Given the description of an element on the screen output the (x, y) to click on. 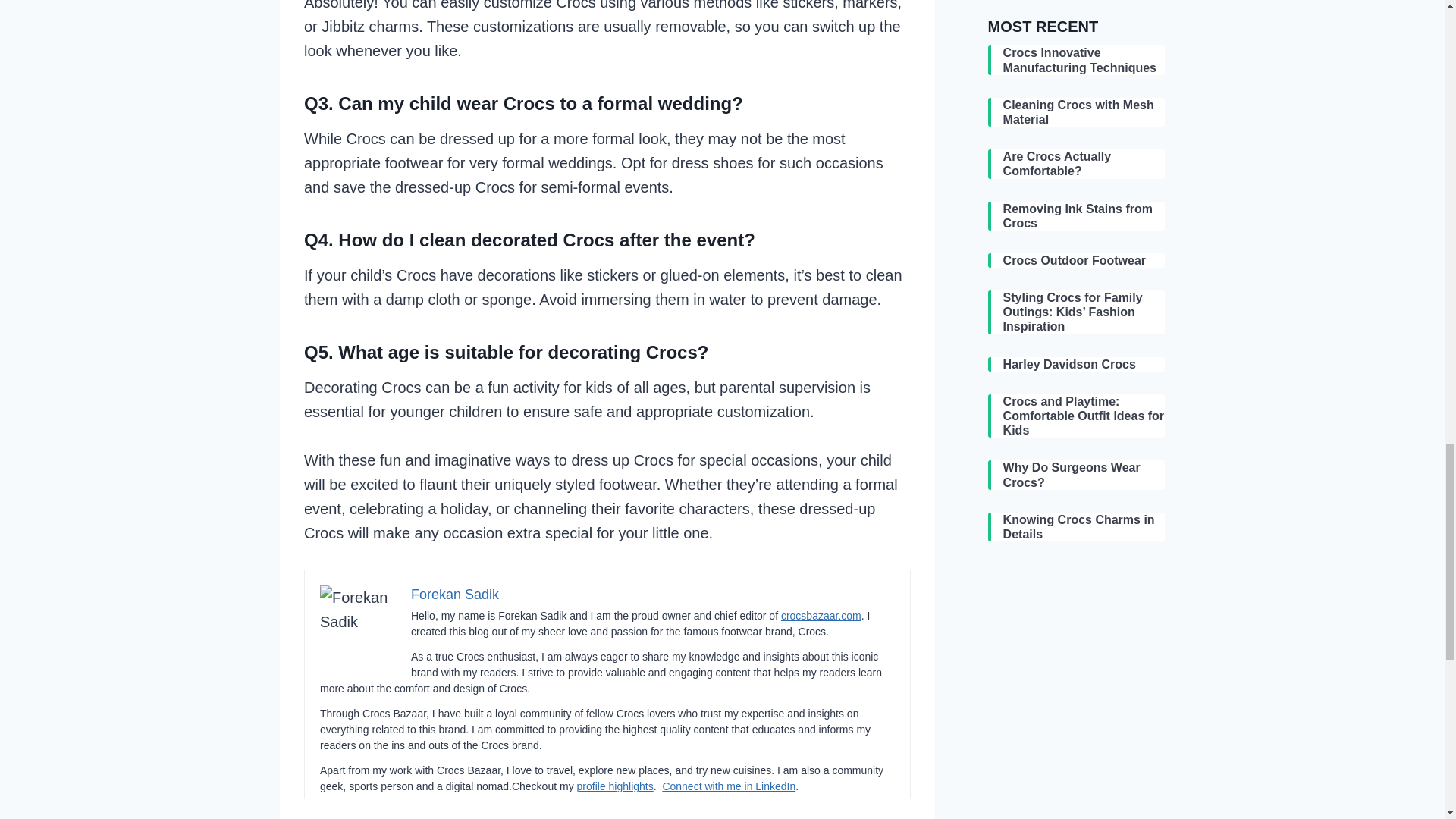
Connect with me in LinkedIn (728, 785)
profile highlights (614, 785)
crocsbazaar.com (820, 615)
Forekan Sadik (454, 594)
